Given the description of an element on the screen output the (x, y) to click on. 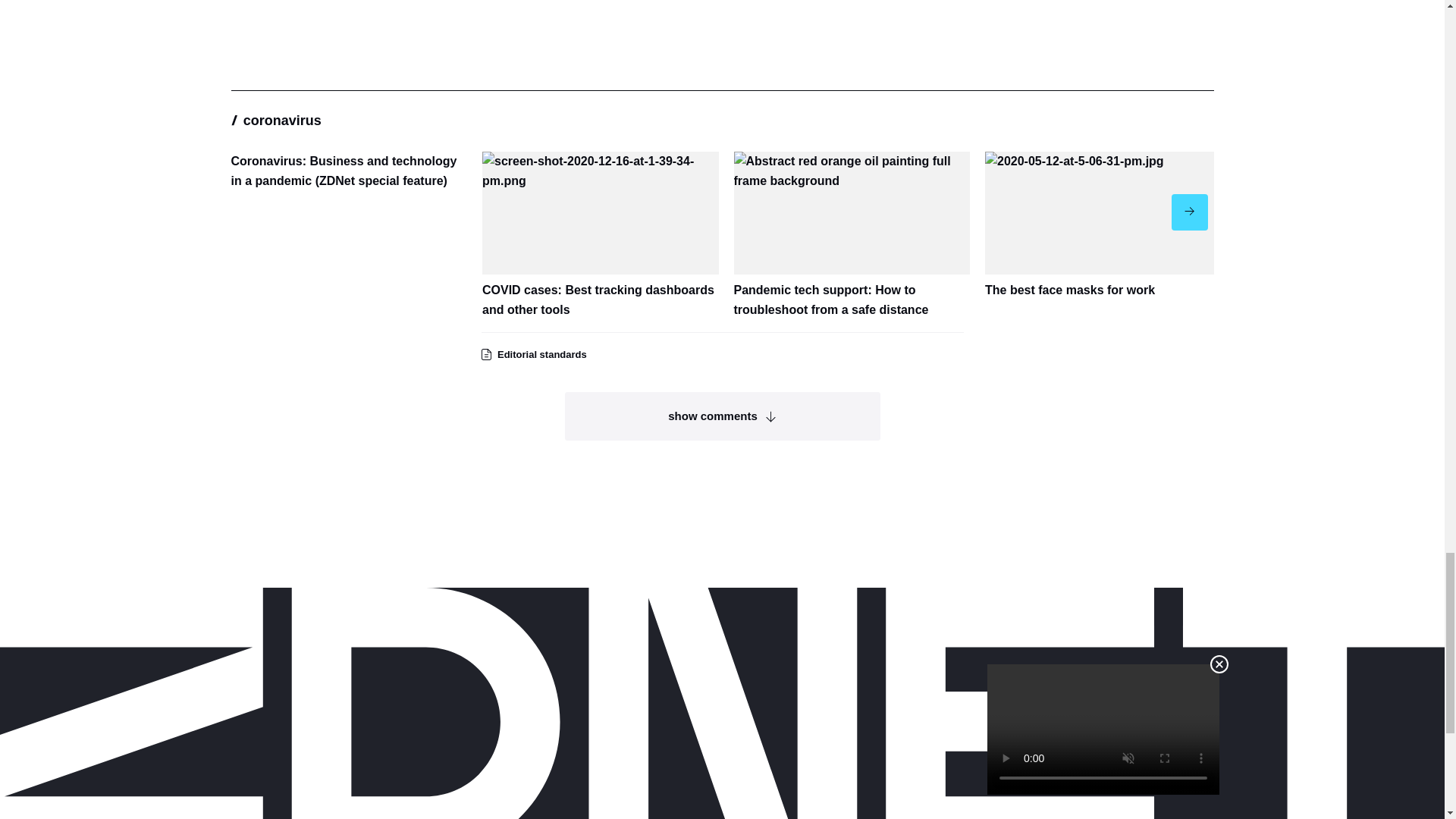
COVID cases: Best tracking dashboards and other tools (600, 235)
The best face masks for work (1103, 225)
